Given the description of an element on the screen output the (x, y) to click on. 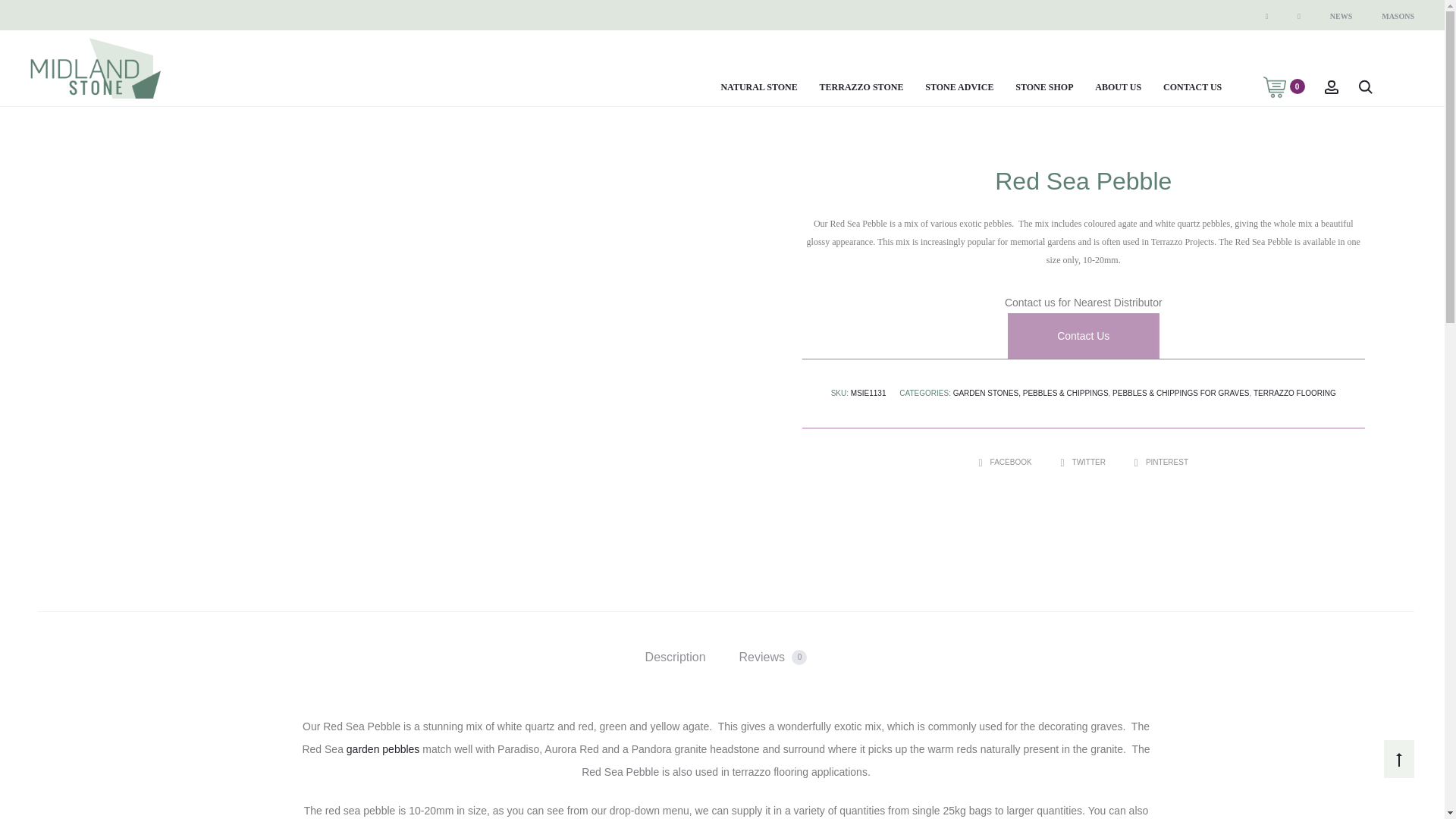
Natural Stone (100, 82)
NATURAL STONE (758, 87)
STONE ADVICE (958, 87)
STONE SHOP (1043, 87)
NEWS (1341, 16)
Home (48, 82)
0 (1274, 86)
TERRAZZO STONE (861, 87)
ABOUT US (1117, 87)
TERRAZZO FLOORING (1294, 393)
